Given the description of an element on the screen output the (x, y) to click on. 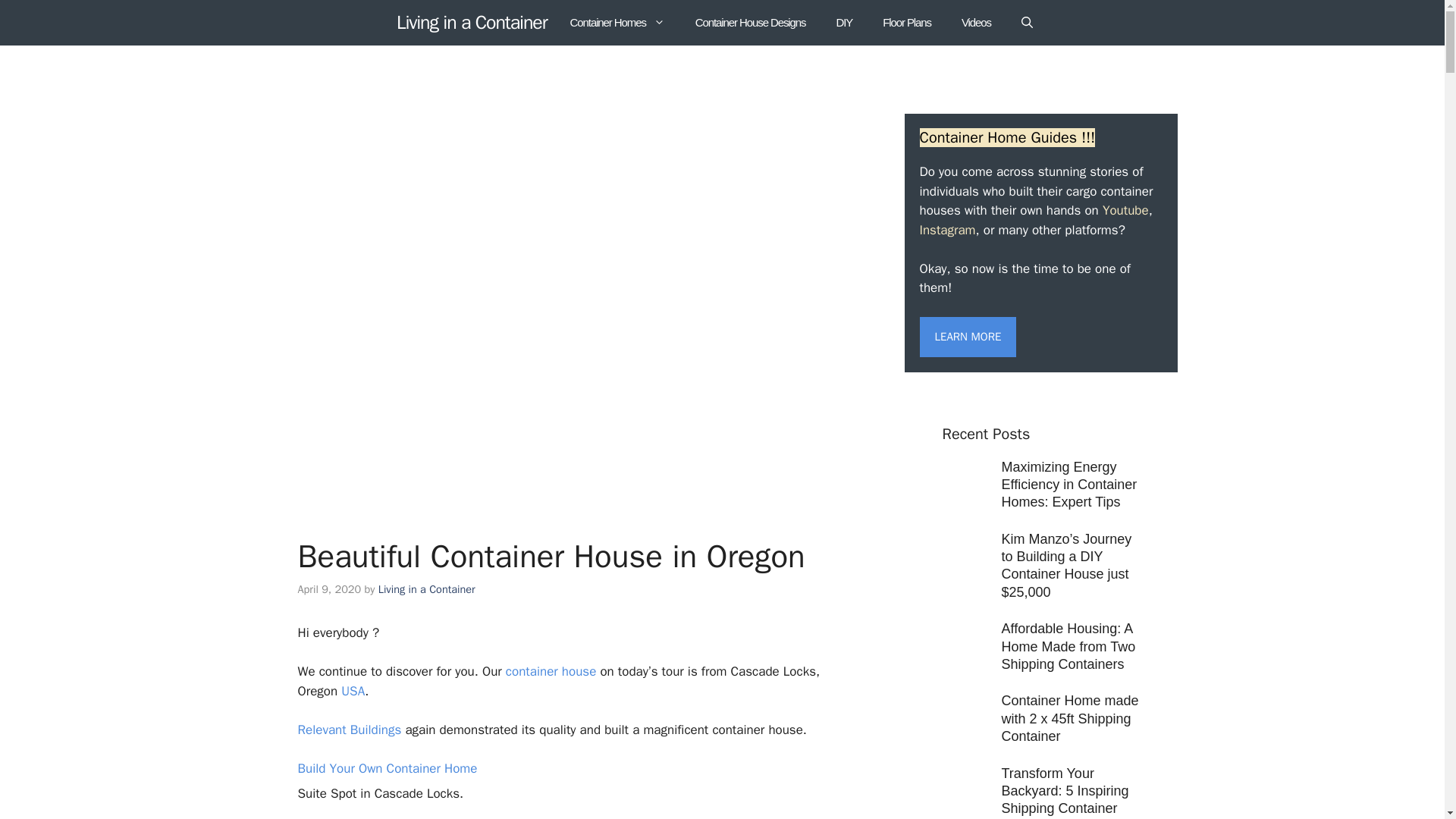
Living in a Container (427, 589)
LEARN MORE (967, 336)
DIY (844, 22)
Maximizing Energy Efficiency in Container Homes: Expert Tips (1069, 484)
Affordable Housing: A Home Made from Two Shipping Containers (1068, 645)
USA (351, 691)
Floor Plans (906, 22)
Container House Designs (750, 22)
Container Homes (616, 22)
Relevant Buildings (349, 729)
Container Home made with 2 x 45ft Shipping Container (1069, 717)
Videos (976, 22)
container house  (552, 671)
View all posts by Living in a Container (427, 589)
